Given the description of an element on the screen output the (x, y) to click on. 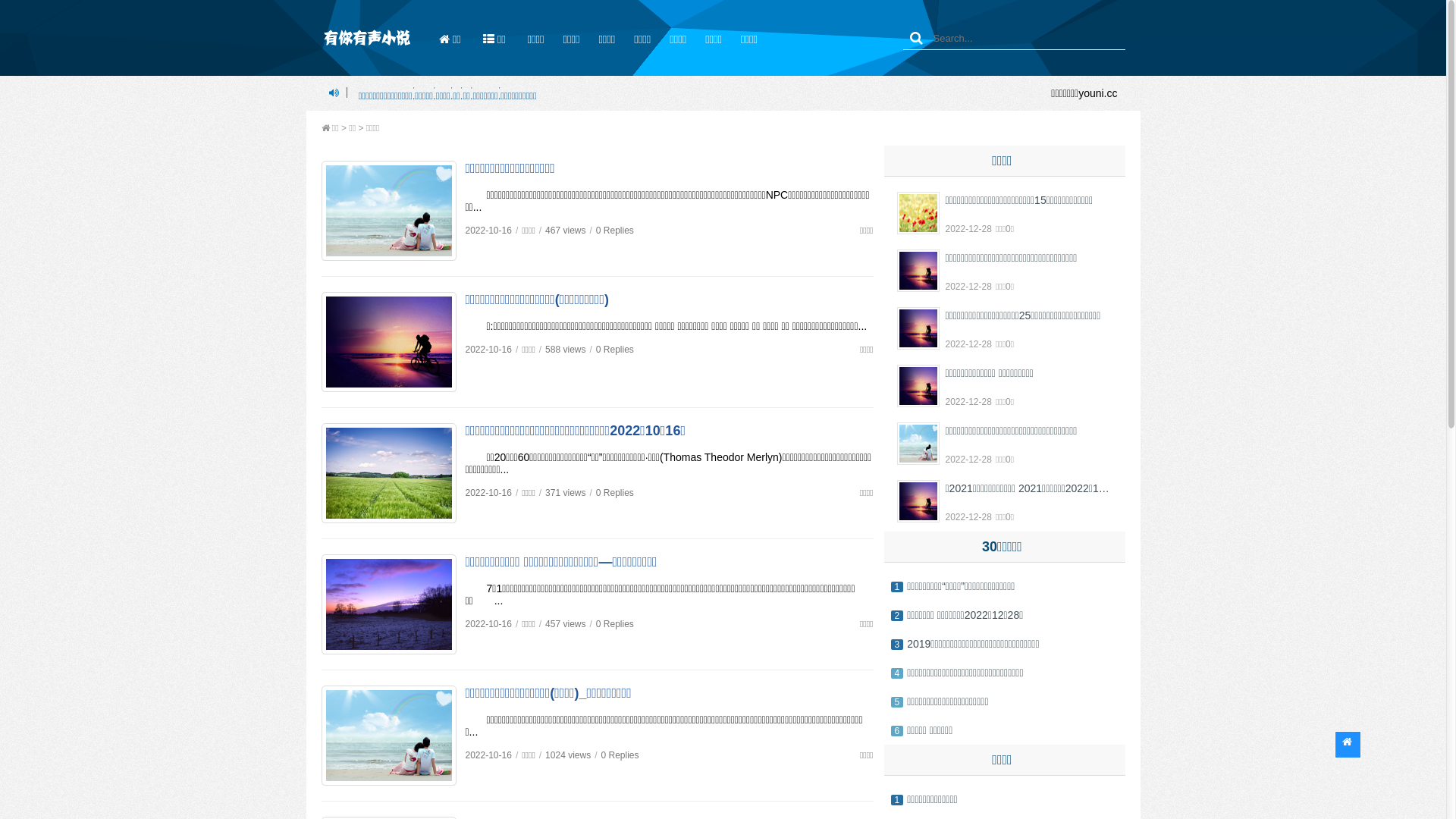
0 Replies Element type: text (614, 349)
0 Replies Element type: text (619, 754)
0 Replies Element type: text (614, 230)
0 Replies Element type: text (614, 492)
0 Replies Element type: text (614, 623)
